Given the description of an element on the screen output the (x, y) to click on. 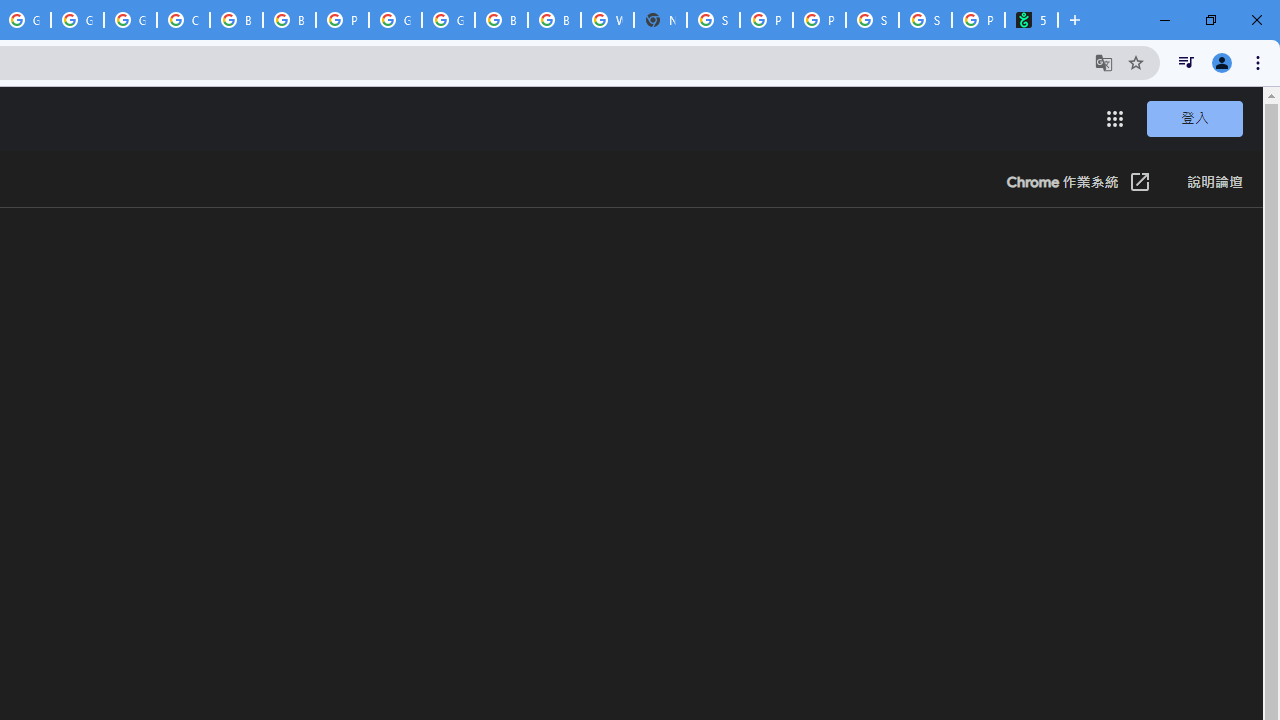
Google Cloud Platform (448, 20)
